Given the description of an element on the screen output the (x, y) to click on. 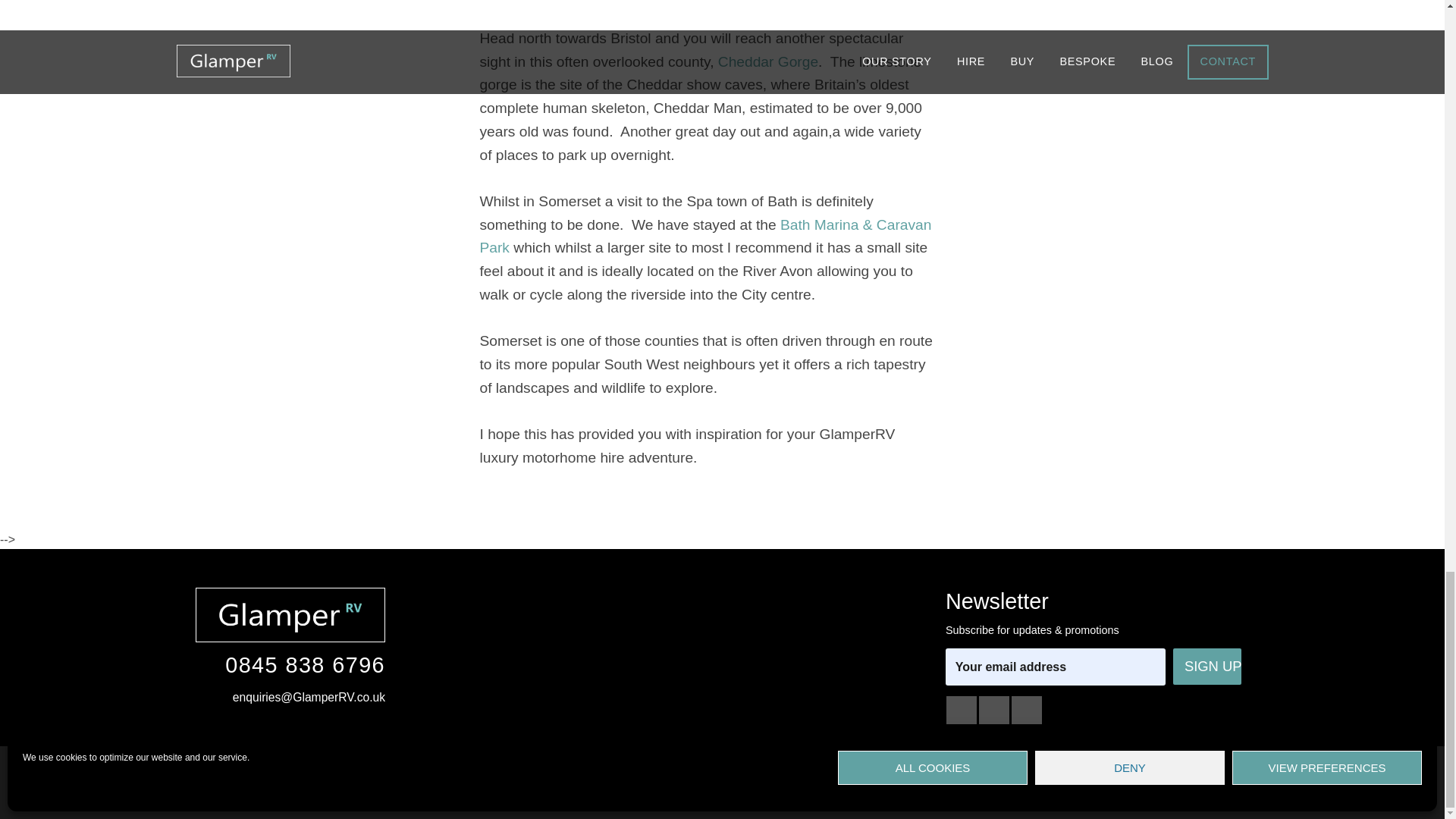
Sign up (1207, 666)
Cheddar Gorge (767, 61)
Sign up (1207, 666)
